Given the description of an element on the screen output the (x, y) to click on. 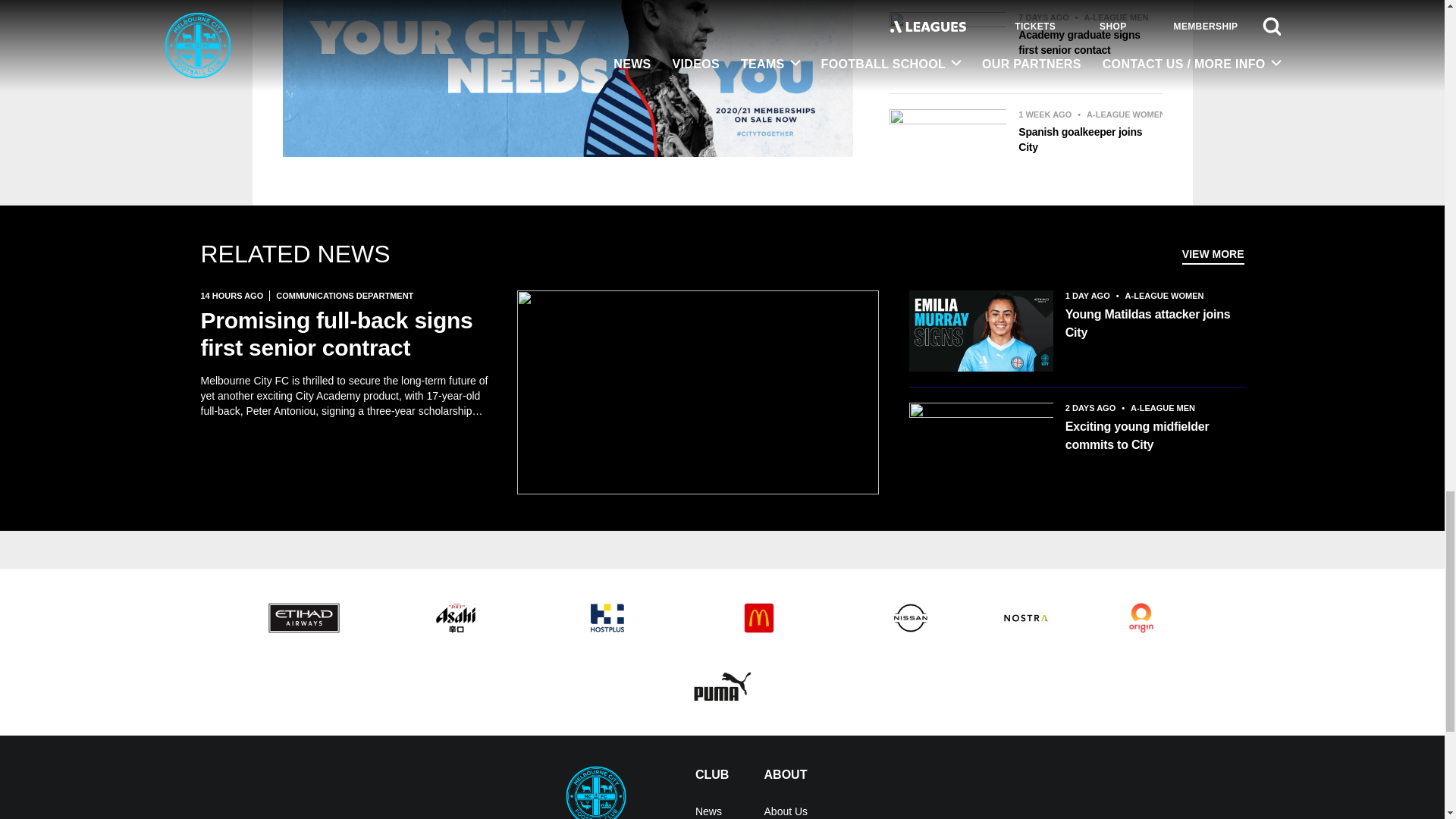
PUMA (722, 686)
Etihad Airways (303, 617)
Hostplus (606, 617)
Nissan (909, 617)
Asahi Super Dry (454, 617)
Origin (1140, 617)
Nostra (1025, 617)
